Given the description of an element on the screen output the (x, y) to click on. 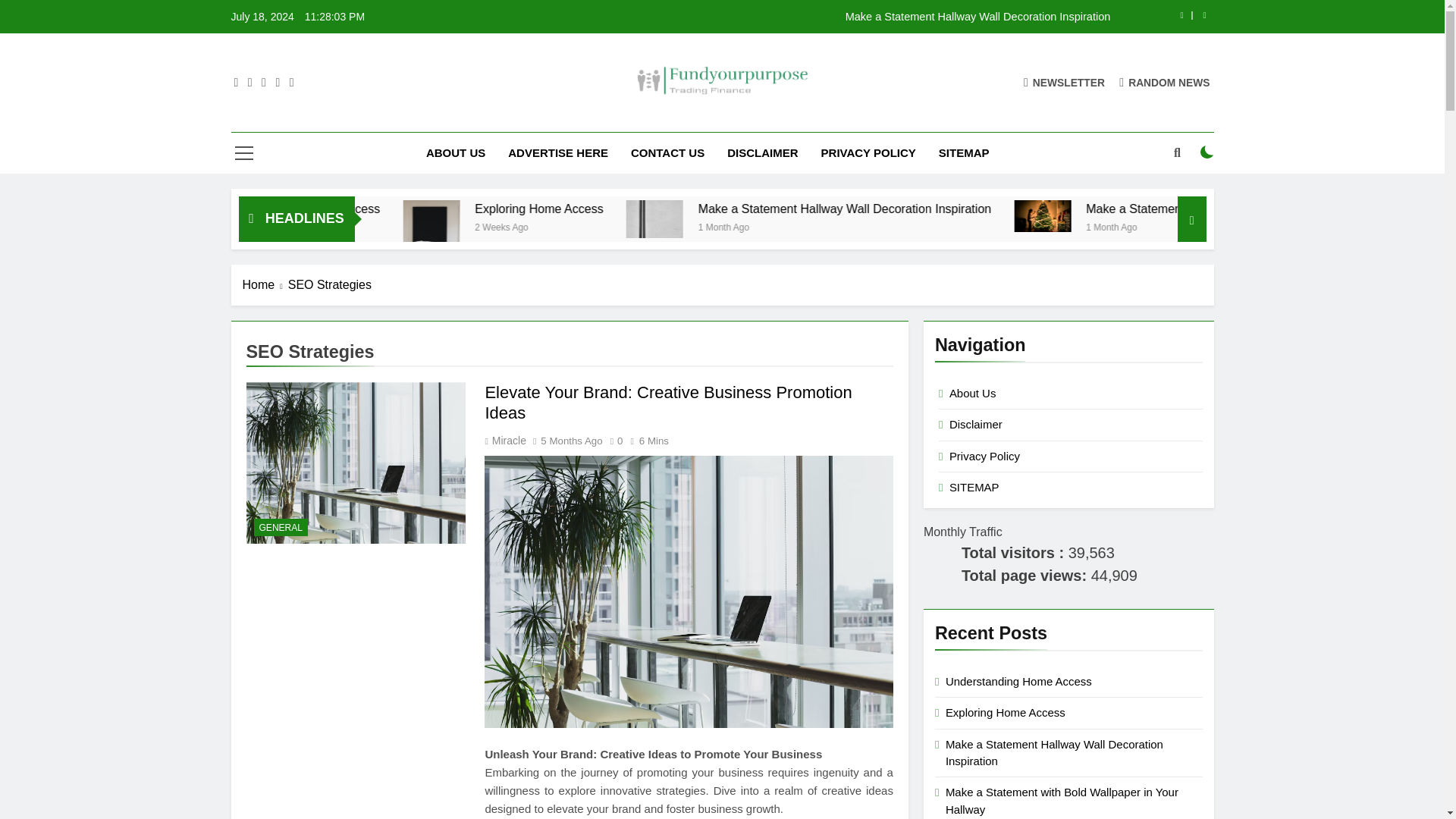
Make a Statement Hallway Wall Decoration Inspiration (817, 16)
Make a Statement Hallway Wall Decoration Inspiration (774, 218)
on (1206, 151)
ABOUT US (455, 152)
2 Weeks Ago (648, 226)
NEWSLETTER (1064, 82)
DISCLAIMER (762, 152)
CONTACT US (668, 152)
Make a Statement Hallway Wall Decoration Inspiration (817, 16)
2 Weeks Ago (402, 226)
Exploring Home Access (688, 208)
Exploring Home Access (662, 208)
RANDOM NEWS (1164, 82)
Understanding Home Access (432, 208)
Make a Statement Hallway Wall Decoration Inspiration (987, 208)
